Given the description of an element on the screen output the (x, y) to click on. 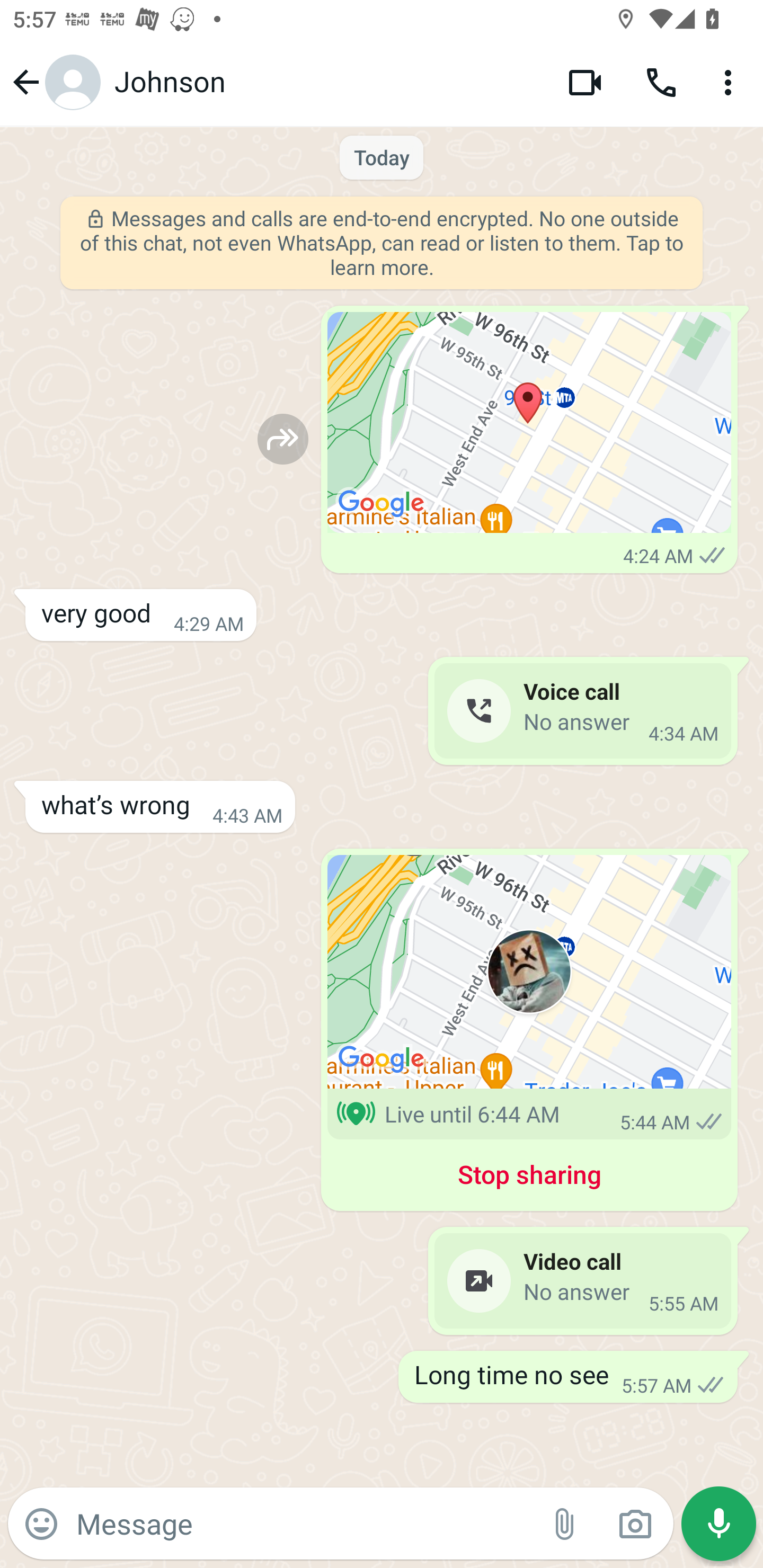
Johnson (327, 82)
Navigate up (54, 82)
Video call (585, 81)
Voice call (661, 81)
More options (731, 81)
Location (528, 422)
Forward to… (282, 438)
Live location (528, 971)
Stop sharing (529, 1178)
Emoji (41, 1523)
Attach (565, 1523)
Camera (634, 1523)
Message (303, 1523)
